Given the description of an element on the screen output the (x, y) to click on. 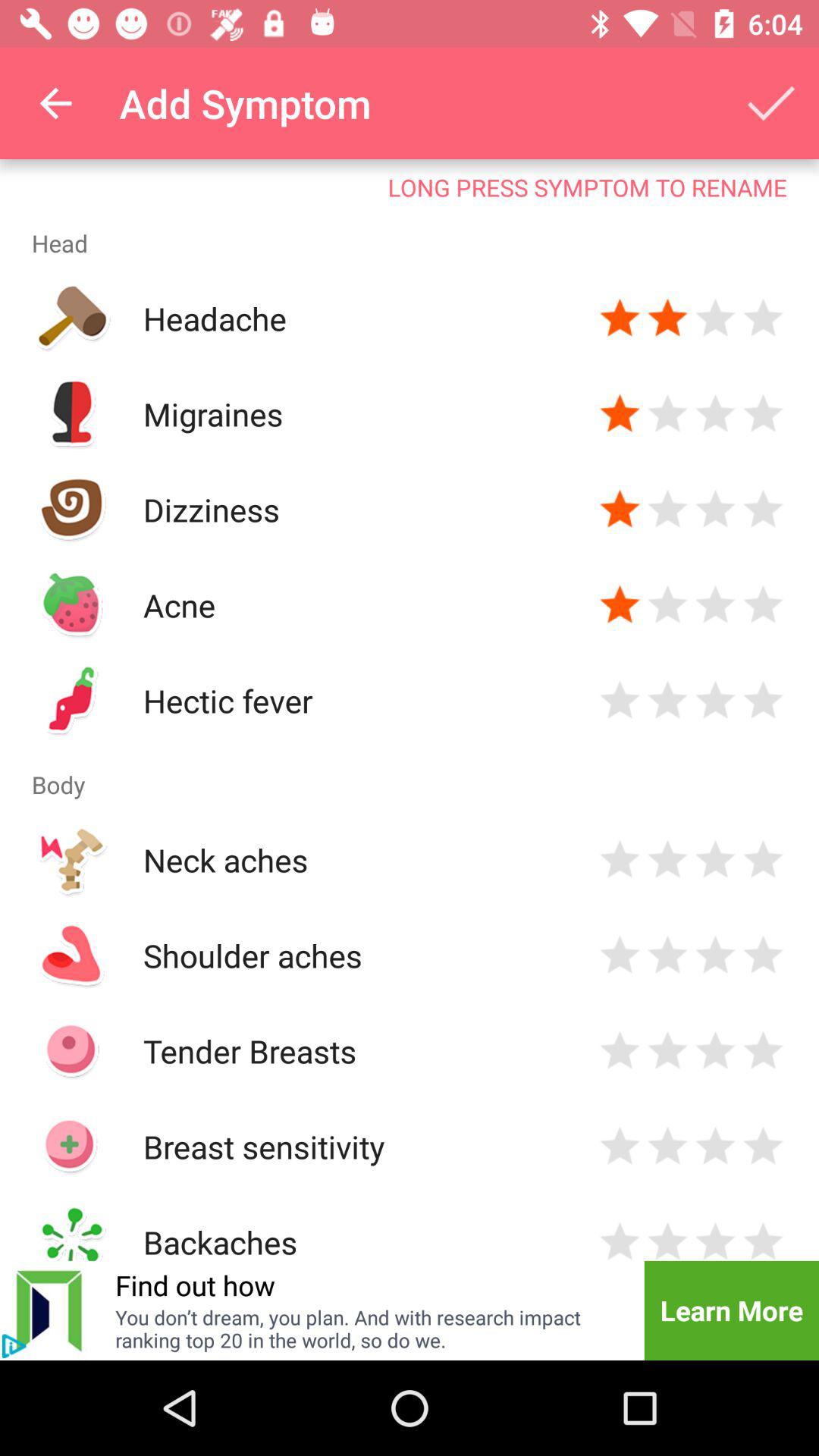
star option (763, 1050)
